Given the description of an element on the screen output the (x, y) to click on. 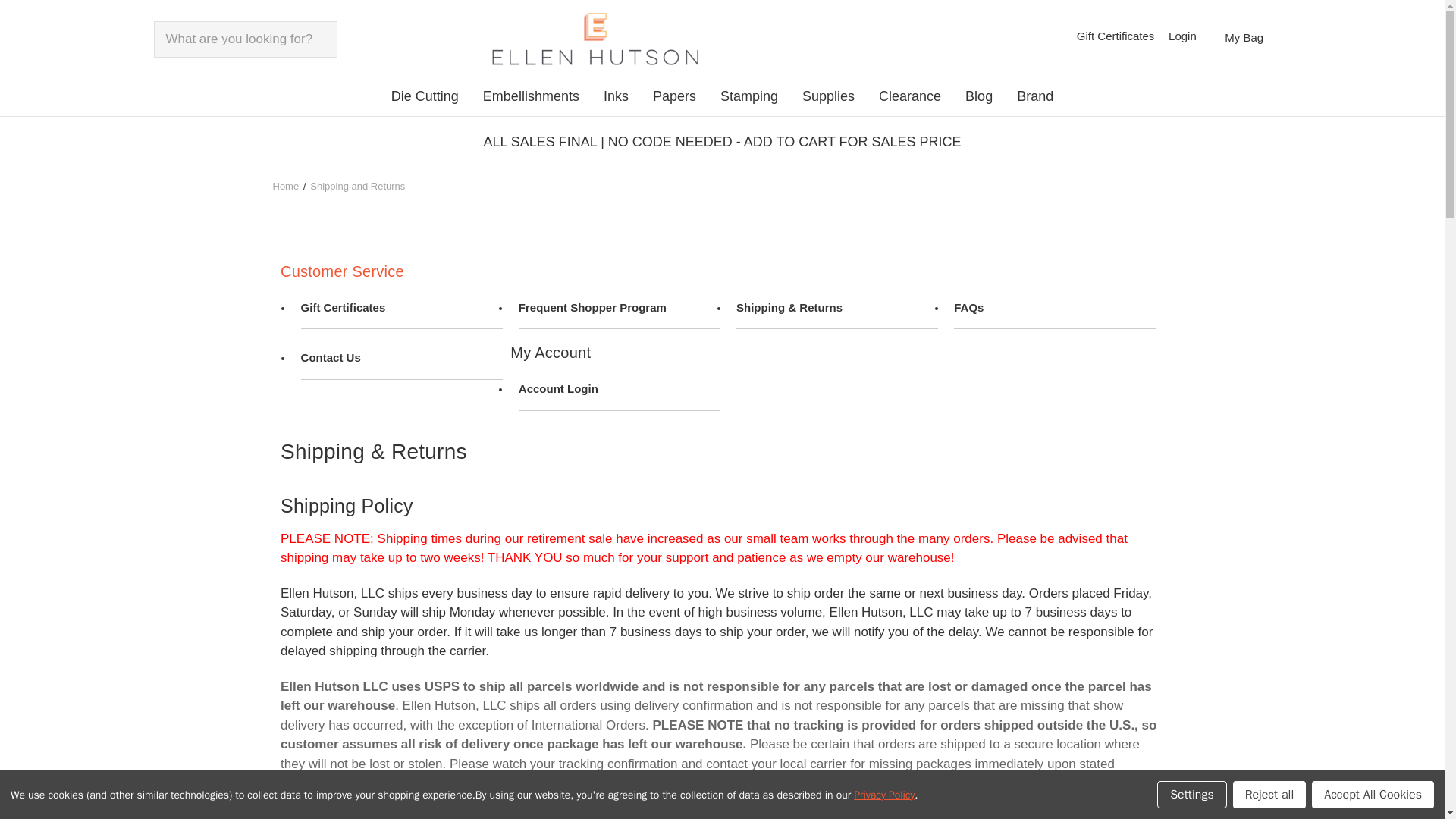
Embellishments (530, 98)
Gift Certificates (1114, 35)
Die Cutting (424, 98)
Home (286, 185)
Inks (615, 98)
Gift Certificates (401, 310)
My Bag (1246, 38)
Account Login (619, 391)
